Given the description of an element on the screen output the (x, y) to click on. 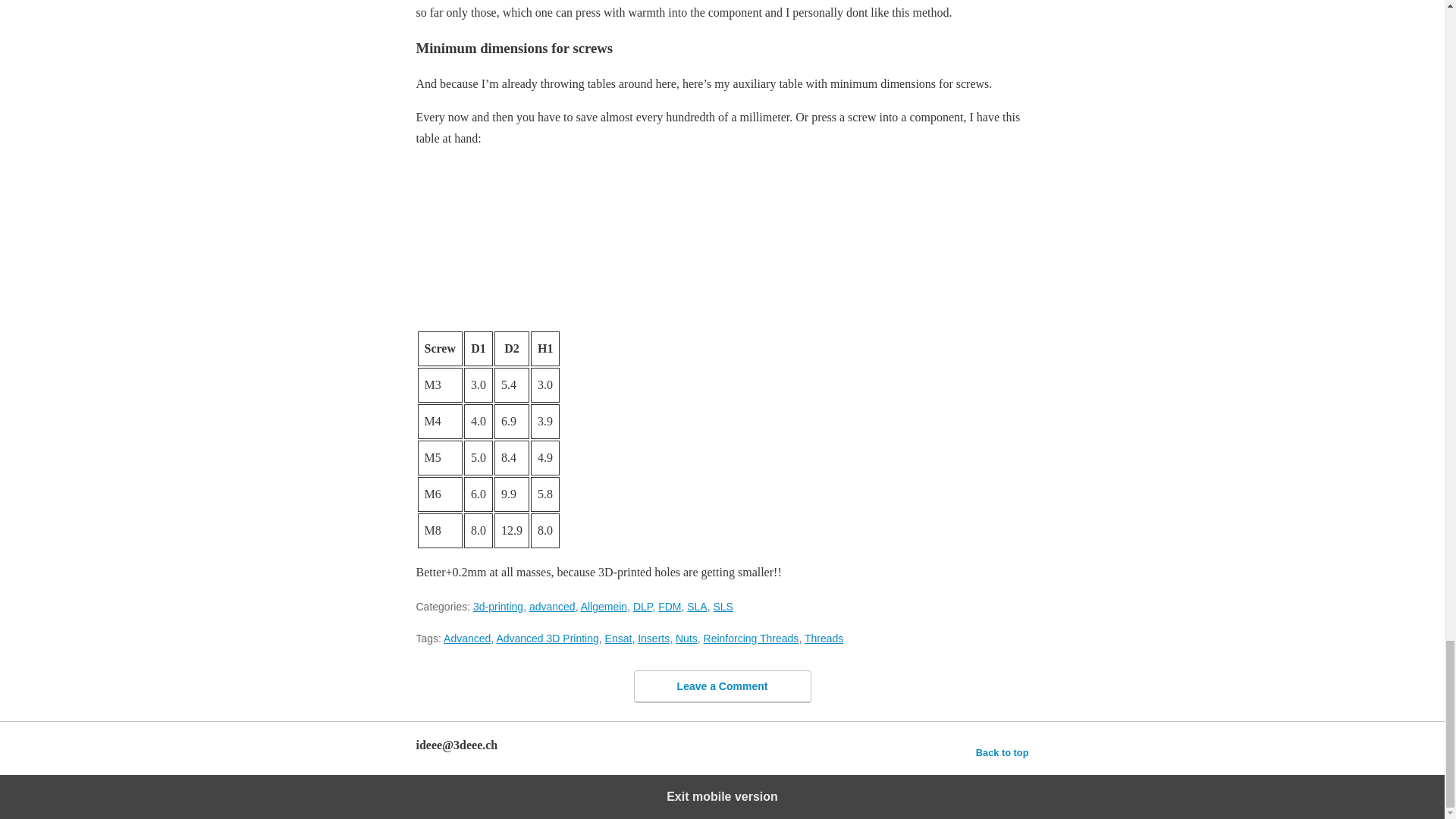
SLS (722, 606)
FDM (669, 606)
Threads (824, 638)
3d-printing (497, 606)
Back to top (1002, 752)
Advanced 3D Printing (547, 638)
Nuts (686, 638)
DLP (642, 606)
Advanced (467, 638)
SLA (696, 606)
Leave a Comment (721, 686)
Reinforcing Threads (751, 638)
advanced (552, 606)
Inserts (653, 638)
Allgemein (603, 606)
